Given the description of an element on the screen output the (x, y) to click on. 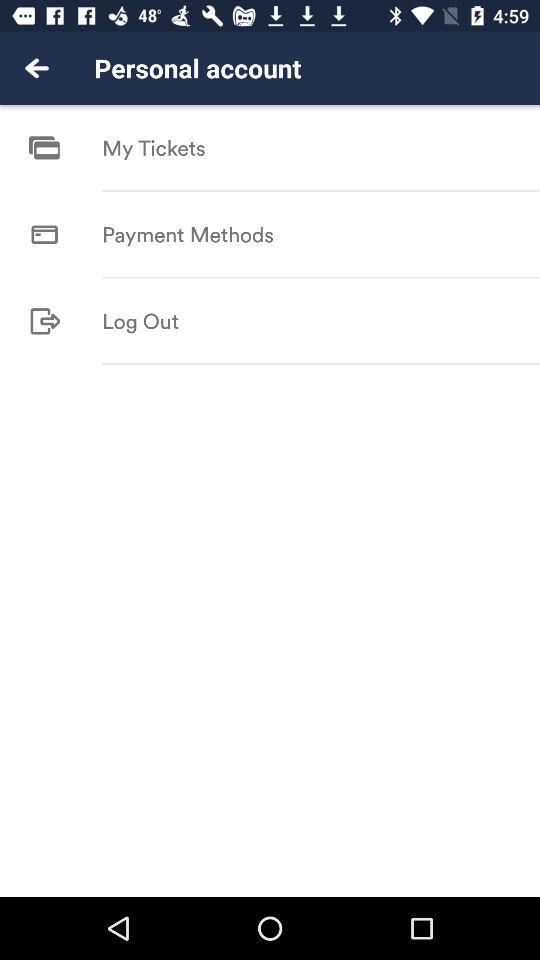
turn on item above log out icon (321, 277)
